Given the description of an element on the screen output the (x, y) to click on. 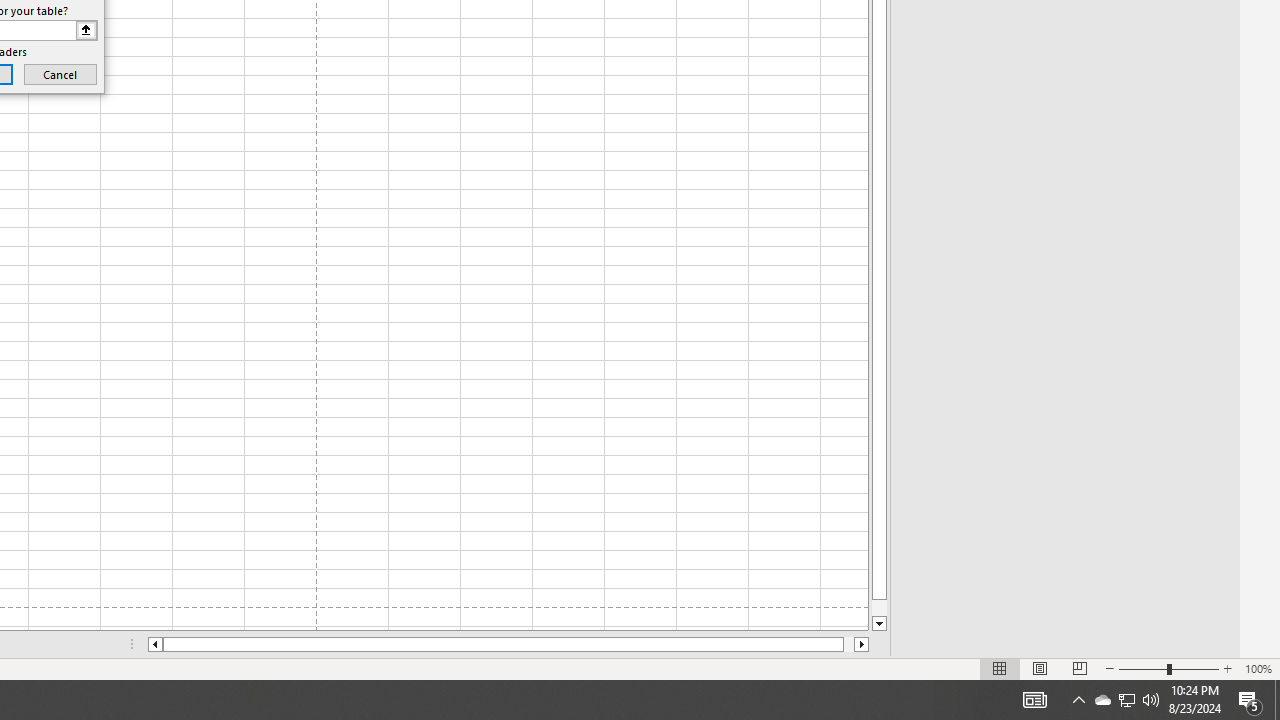
Column right (861, 644)
Line down (879, 624)
Class: NetUIScrollBar (507, 644)
Column left (153, 644)
Zoom (1168, 668)
Normal (1000, 668)
Zoom In (1227, 668)
Page Layout (1039, 668)
Page Break Preview (1079, 668)
Page right (848, 644)
Zoom Out (1142, 668)
Page down (879, 607)
